Given the description of an element on the screen output the (x, y) to click on. 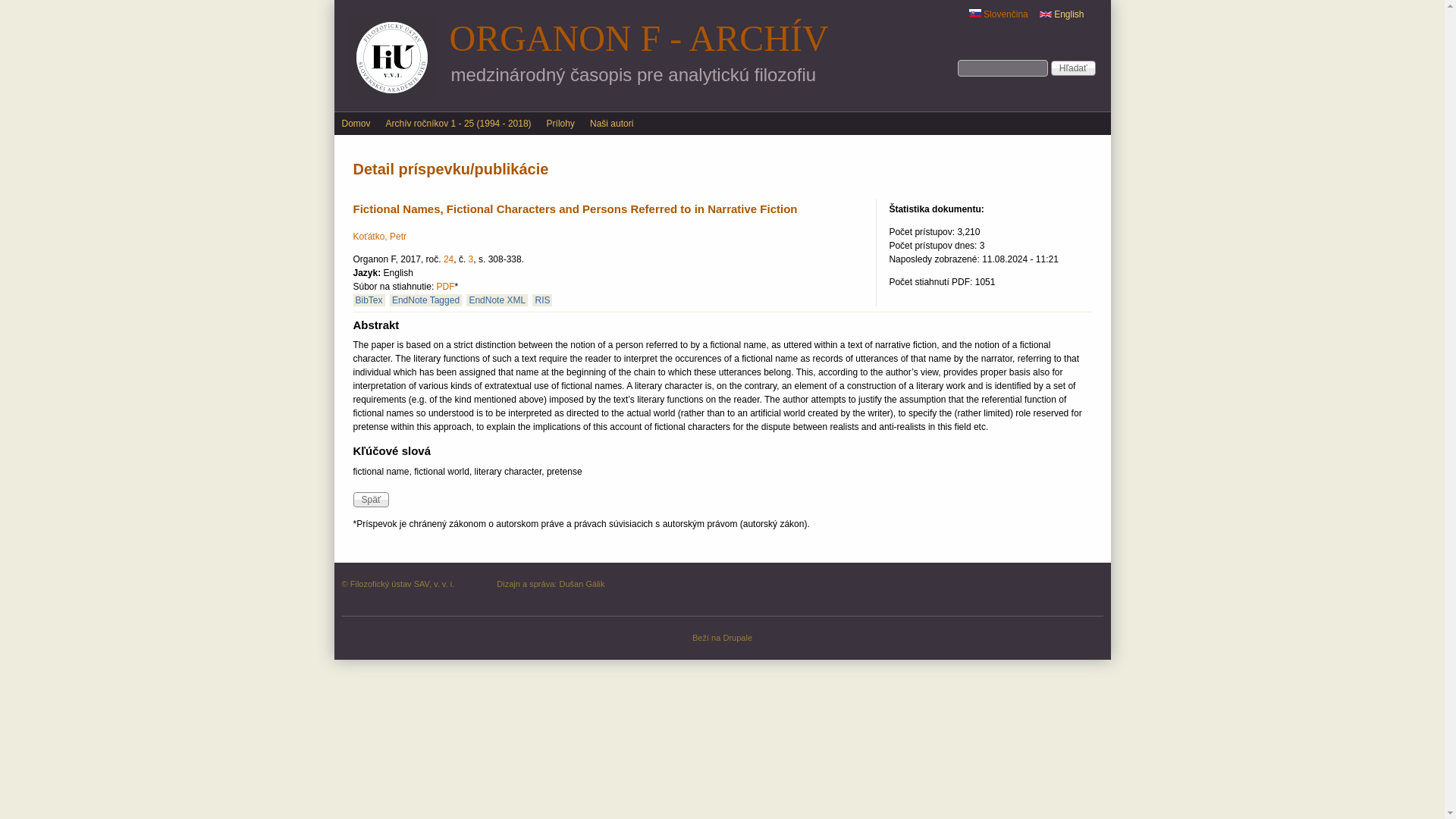
Domov (355, 123)
BibTex (369, 300)
English (1045, 14)
RIS (541, 300)
PDF (445, 286)
24 (448, 258)
English (1061, 14)
EndNote XML (496, 300)
EndNote Tagged (425, 300)
Drupale (737, 637)
